Given the description of an element on the screen output the (x, y) to click on. 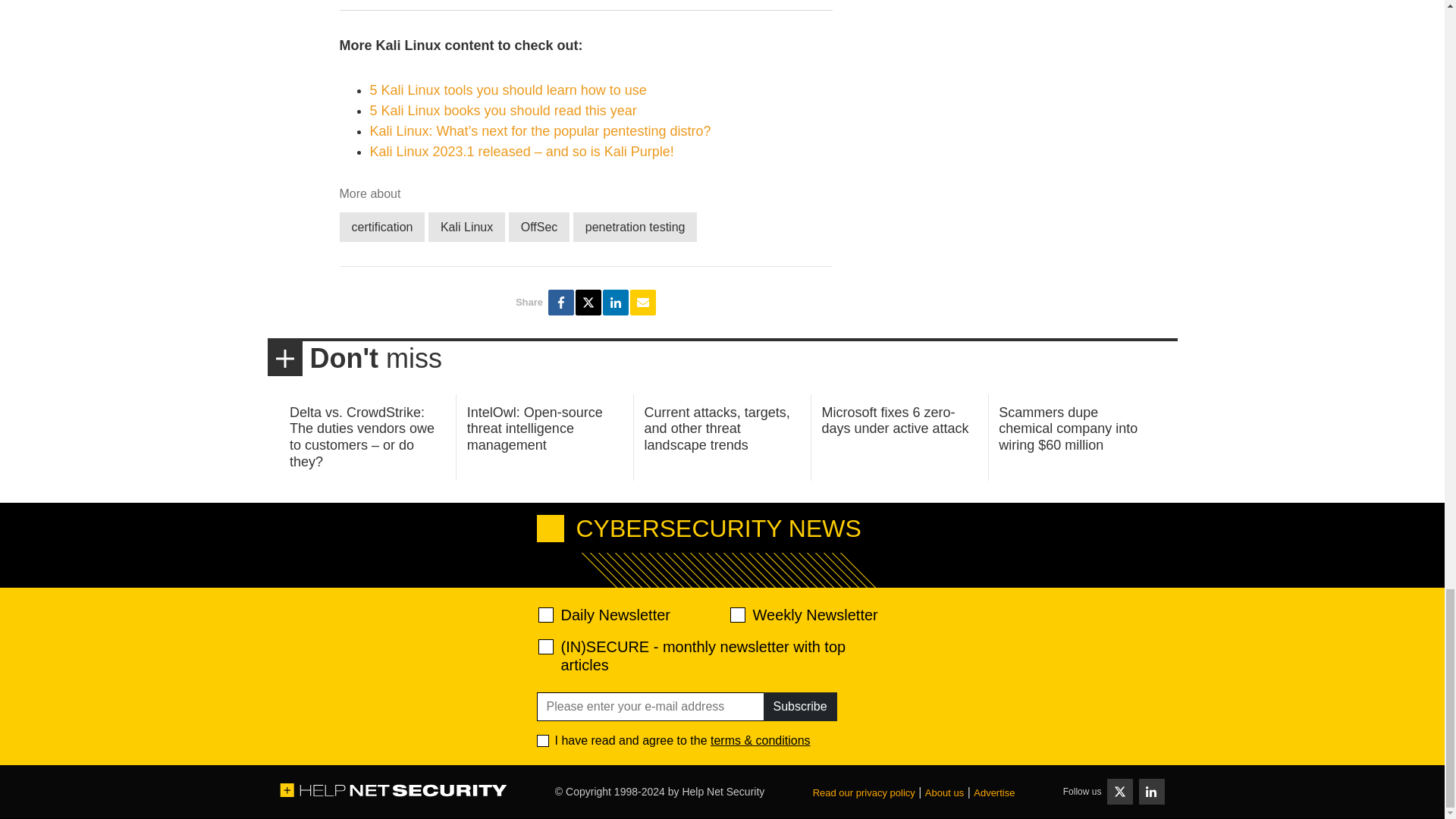
penetration testing (635, 226)
penetration testing (635, 226)
d2d471aafa (736, 614)
520ac2f639 (545, 614)
28abe5d9ef (545, 646)
OffSec (539, 226)
certification (382, 226)
1 (542, 740)
Kali Linux (466, 226)
5 Kali Linux tools you should learn how to use (507, 89)
